Given the description of an element on the screen output the (x, y) to click on. 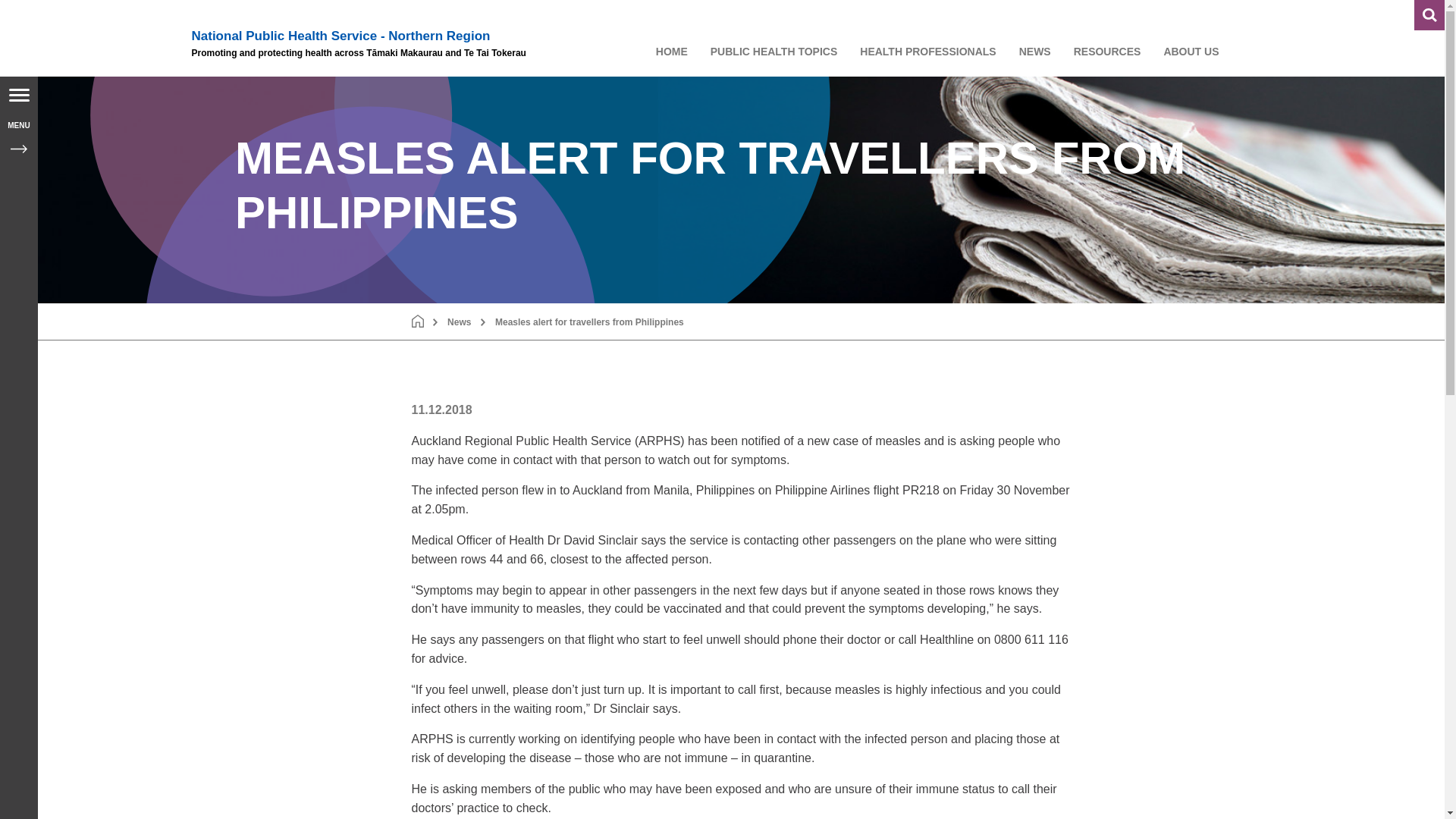
NEWS (1034, 51)
PUBLIC HEALTH TOPICS (773, 51)
ABOUT US (1190, 51)
RESOURCES (1107, 51)
home (416, 320)
HEALTH PROFESSIONALS (927, 51)
News (458, 320)
menu-arrow (18, 148)
HOME (671, 51)
